Given the description of an element on the screen output the (x, y) to click on. 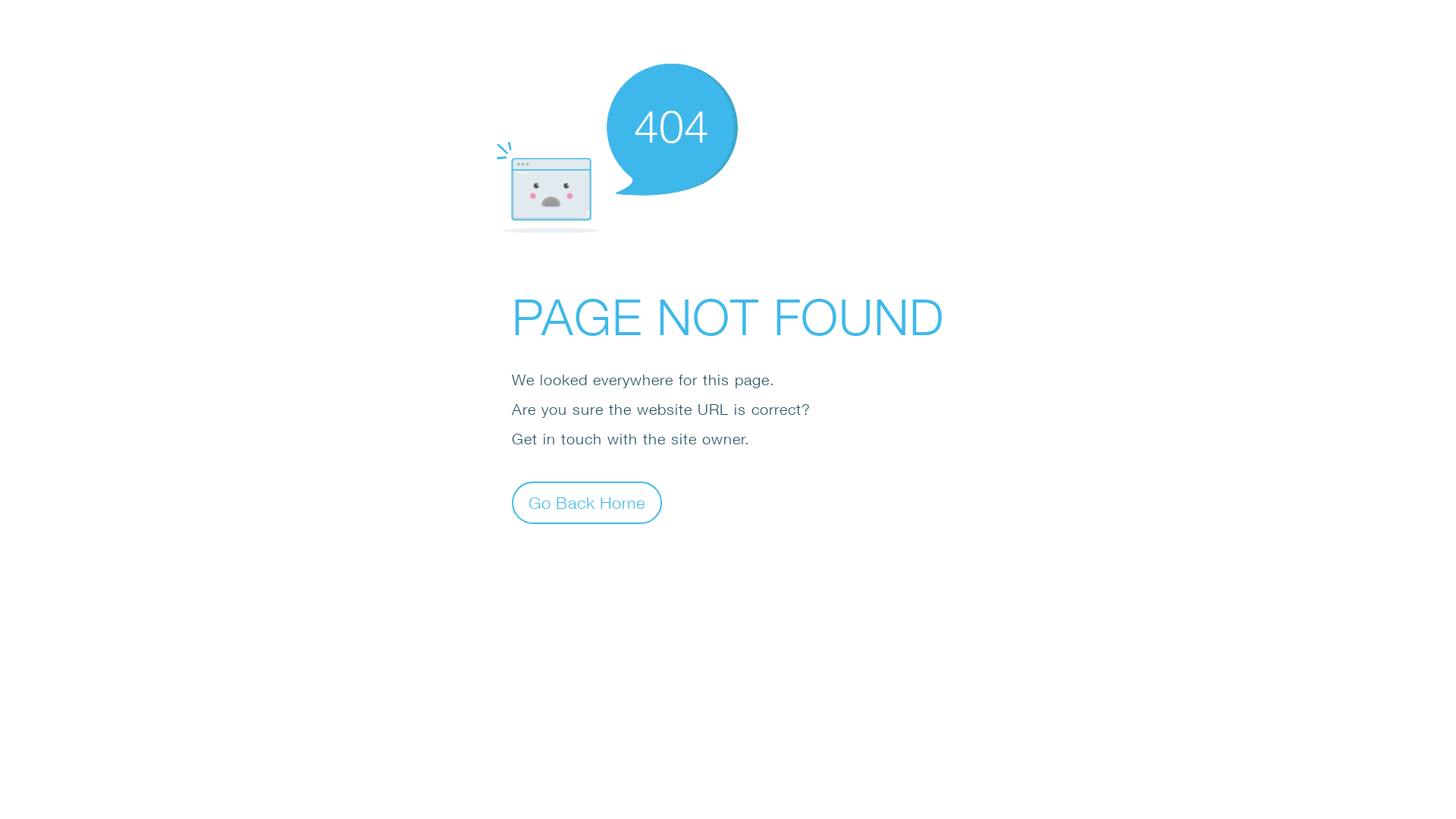
Go Back Home Element type: text (586, 502)
